Given the description of an element on the screen output the (x, y) to click on. 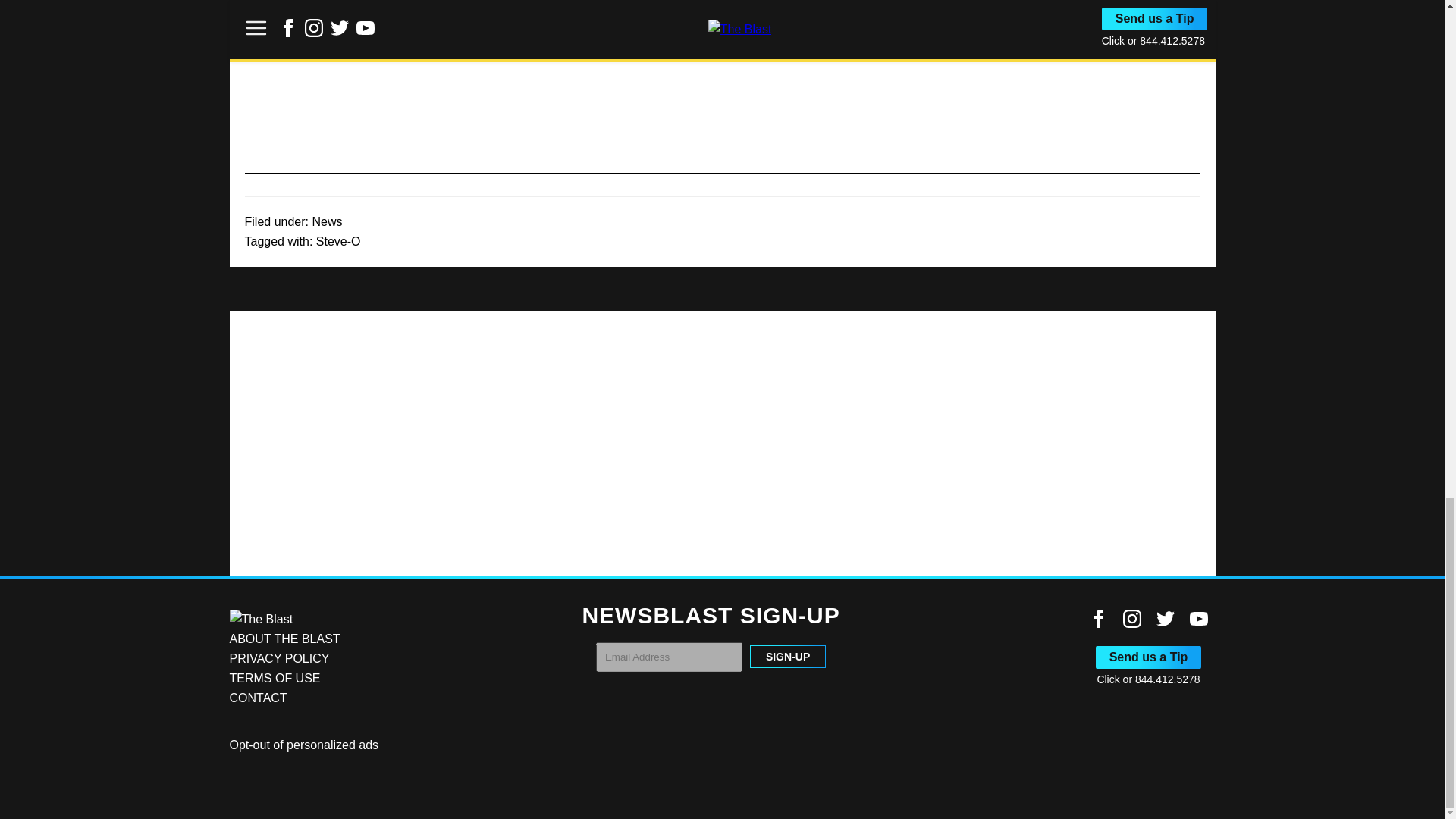
Click or 844.412.5278 (1147, 679)
Link to Instagram (1131, 618)
Link to Youtube (1198, 623)
Link to Instagram (1131, 623)
Link to Facebook (1097, 623)
Link to Youtube (1198, 618)
Send us a Tip (1149, 657)
SIGN-UP (787, 656)
ABOUT THE BLAST (283, 638)
TERMS OF USE (274, 677)
SIGN-UP (787, 656)
News (326, 221)
Steve-O (338, 241)
CONTACT (257, 697)
PRIVACY POLICY (278, 658)
